Given the description of an element on the screen output the (x, y) to click on. 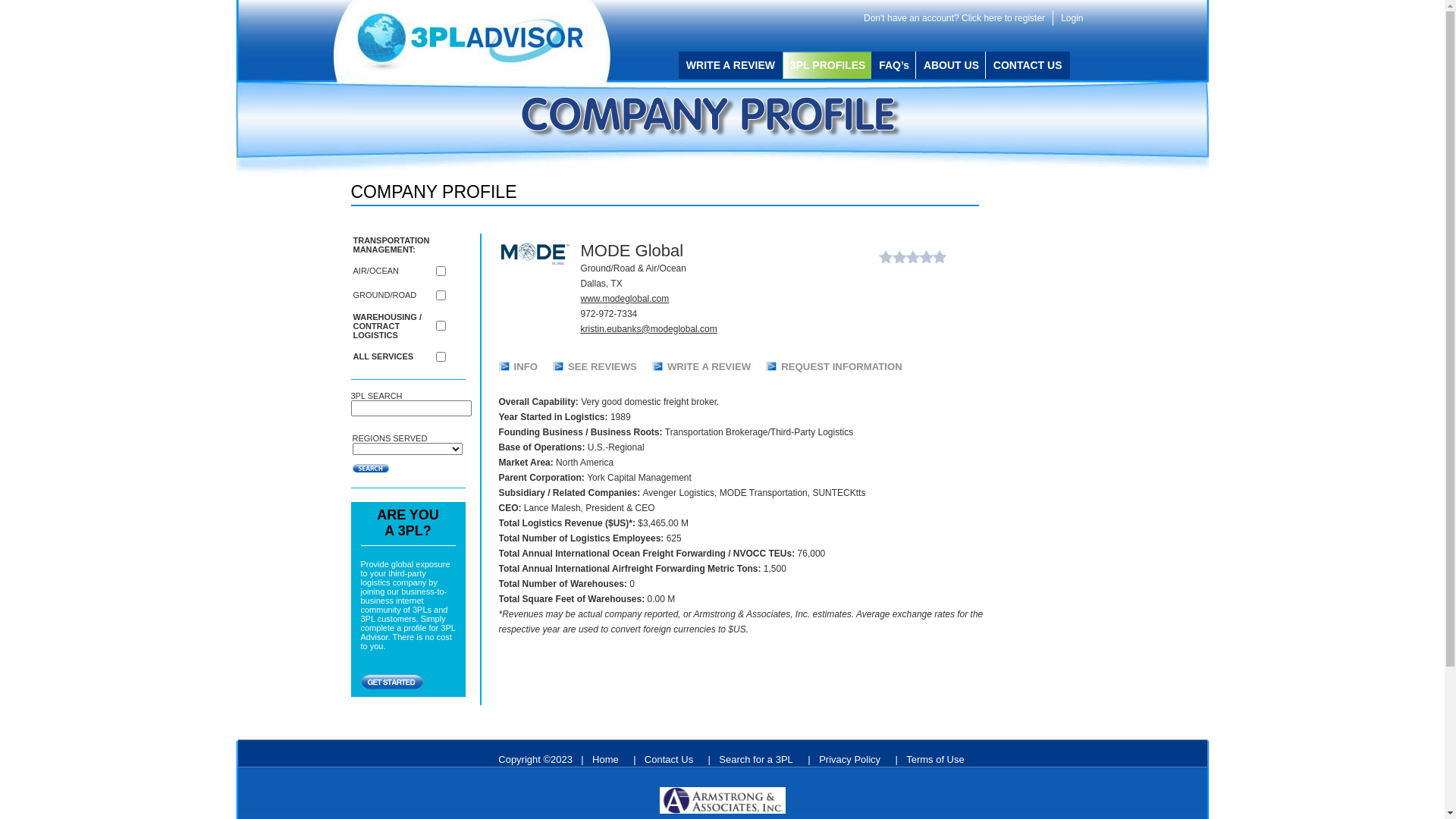
WRITE A REVIEW Element type: text (730, 64)
ABOUT US   Element type: text (950, 64)
kristin.eubanks@modeglobal.com Element type: text (648, 328)
Rating: 0 Element type: hover (911, 256)
3PL PROFILES   Element type: text (826, 64)
REQUEST INFORMATION Element type: text (841, 366)
Contact Us Element type: text (671, 759)
Login Element type: text (1071, 17)
Terms of Use Element type: text (938, 759)
INFO Element type: text (526, 366)
Home Element type: text (608, 759)
Don't have an account? Click here to register Element type: text (954, 17)
Privacy Policy Element type: text (852, 759)
MODE Global Element type: hover (534, 254)
Get Started Element type: hover (391, 681)
www.modeglobal.com Element type: text (624, 298)
Search for a 3PL Element type: text (758, 759)
Company Profile Element type: hover (710, 116)
3PL ADVISOR Element type: text (482, 41)
SEE REVIEWS Element type: text (602, 366)
WRITE A REVIEW Element type: text (708, 366)
CONTACT US Element type: text (1027, 64)
